Given the description of an element on the screen output the (x, y) to click on. 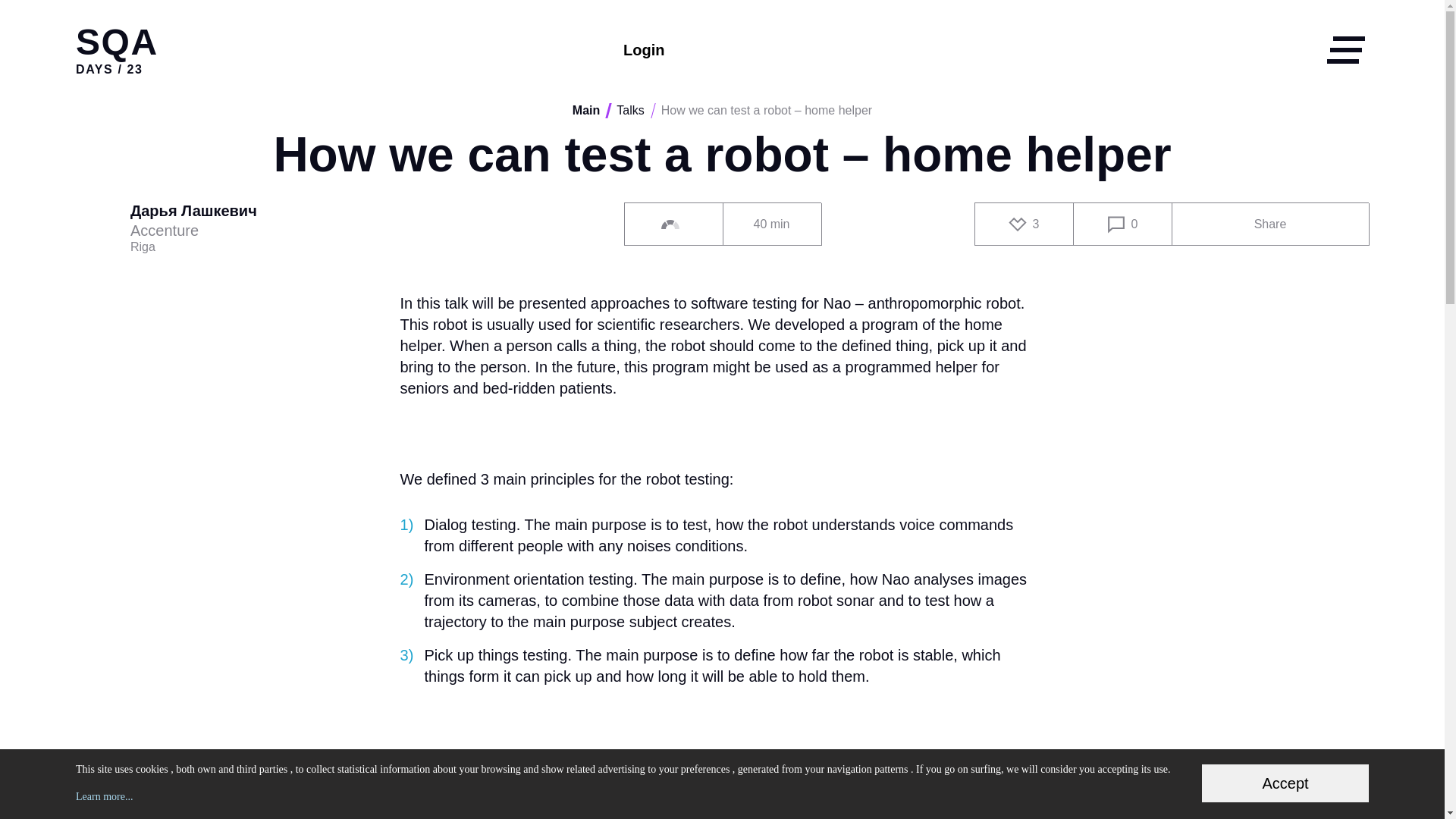
Share (1270, 224)
Login (643, 49)
3 (1023, 224)
0 (1122, 224)
Talks (629, 110)
Learn more... (103, 796)
Main (585, 110)
